Given the description of an element on the screen output the (x, y) to click on. 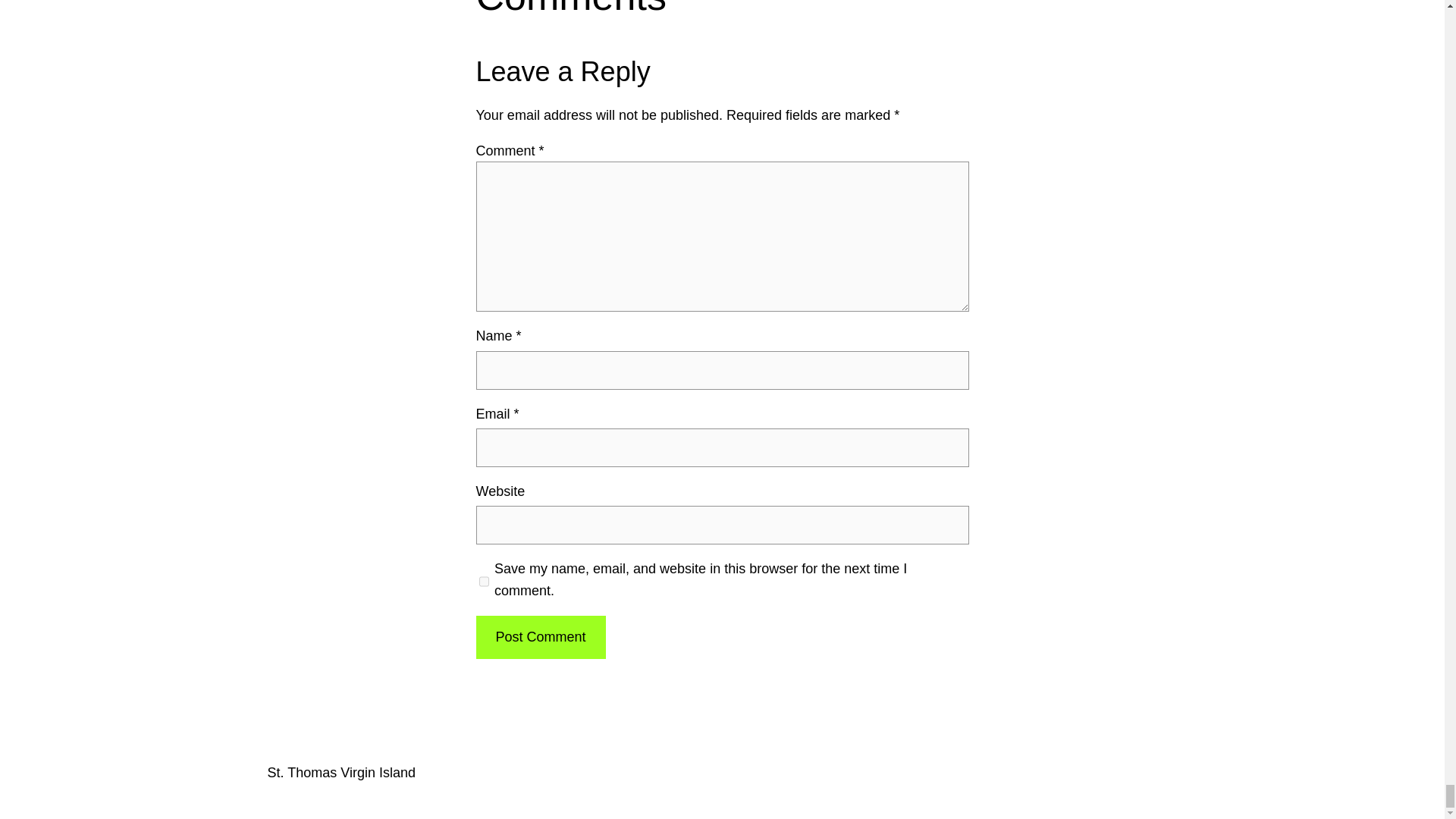
St. Thomas Virgin Island (340, 772)
Post Comment (540, 637)
Post Comment (540, 637)
